Given the description of an element on the screen output the (x, y) to click on. 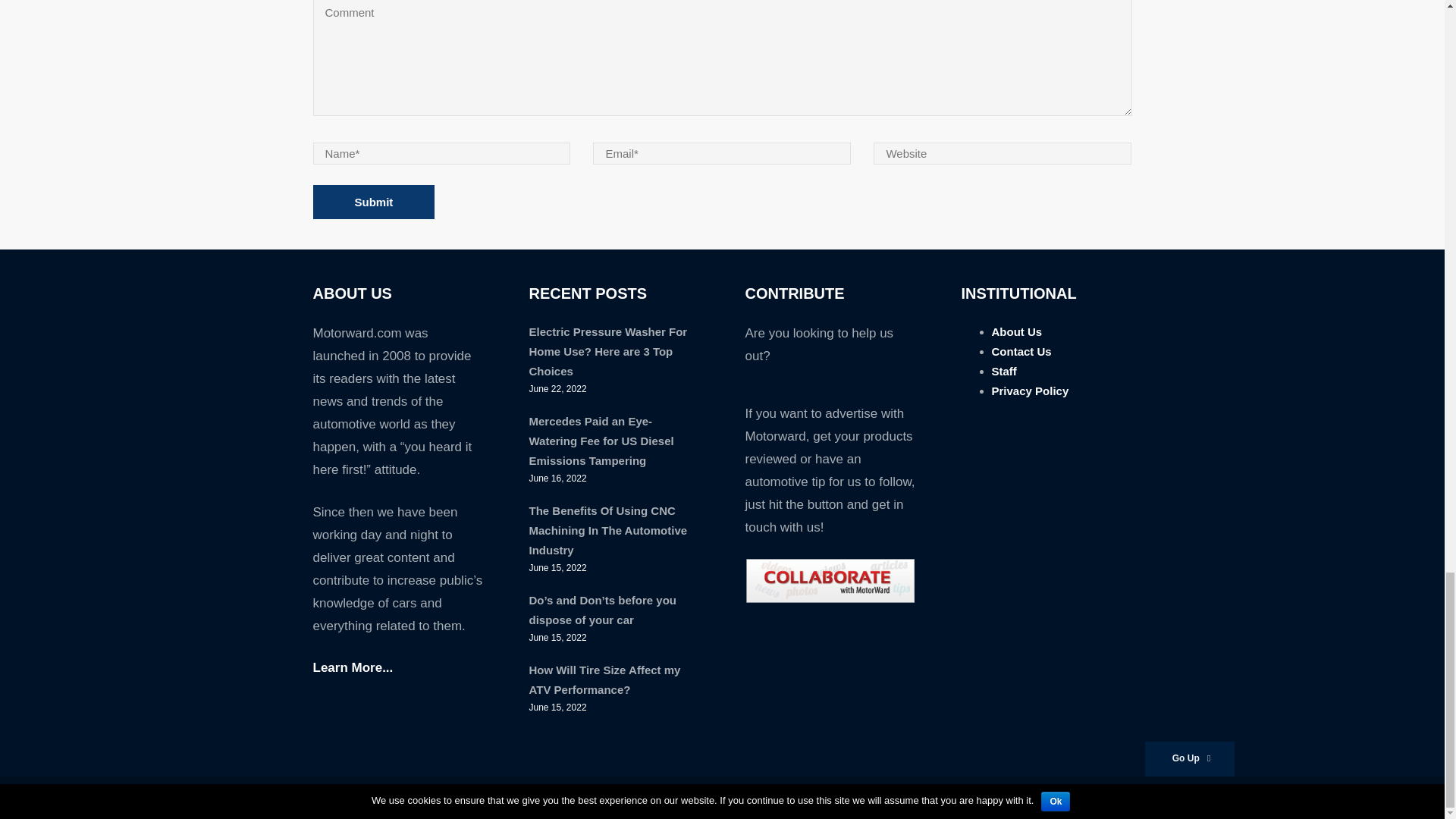
Submit (373, 202)
